Given the description of an element on the screen output the (x, y) to click on. 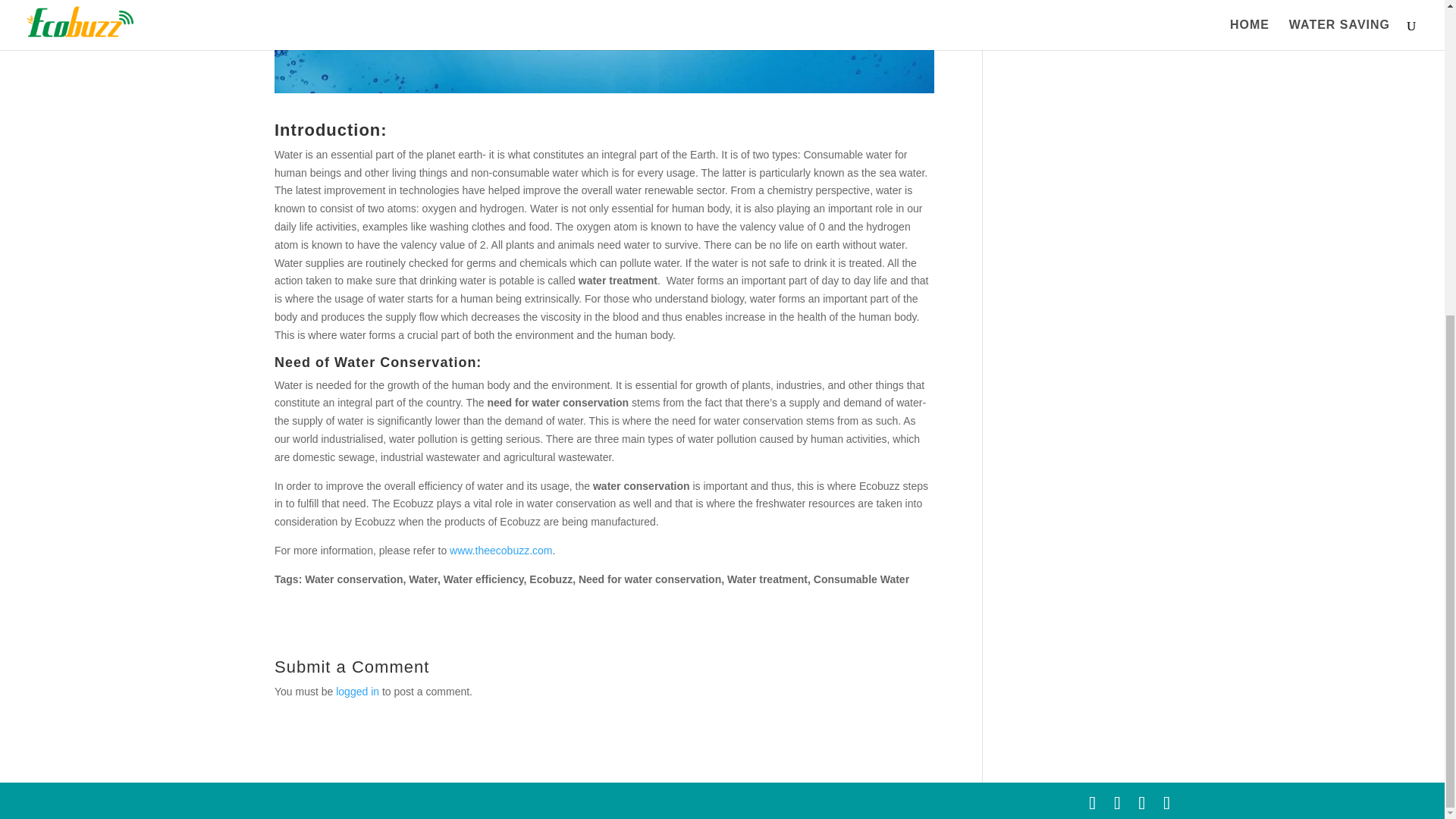
logged in (357, 691)
www.theecobuzz.com (500, 550)
